Given the description of an element on the screen output the (x, y) to click on. 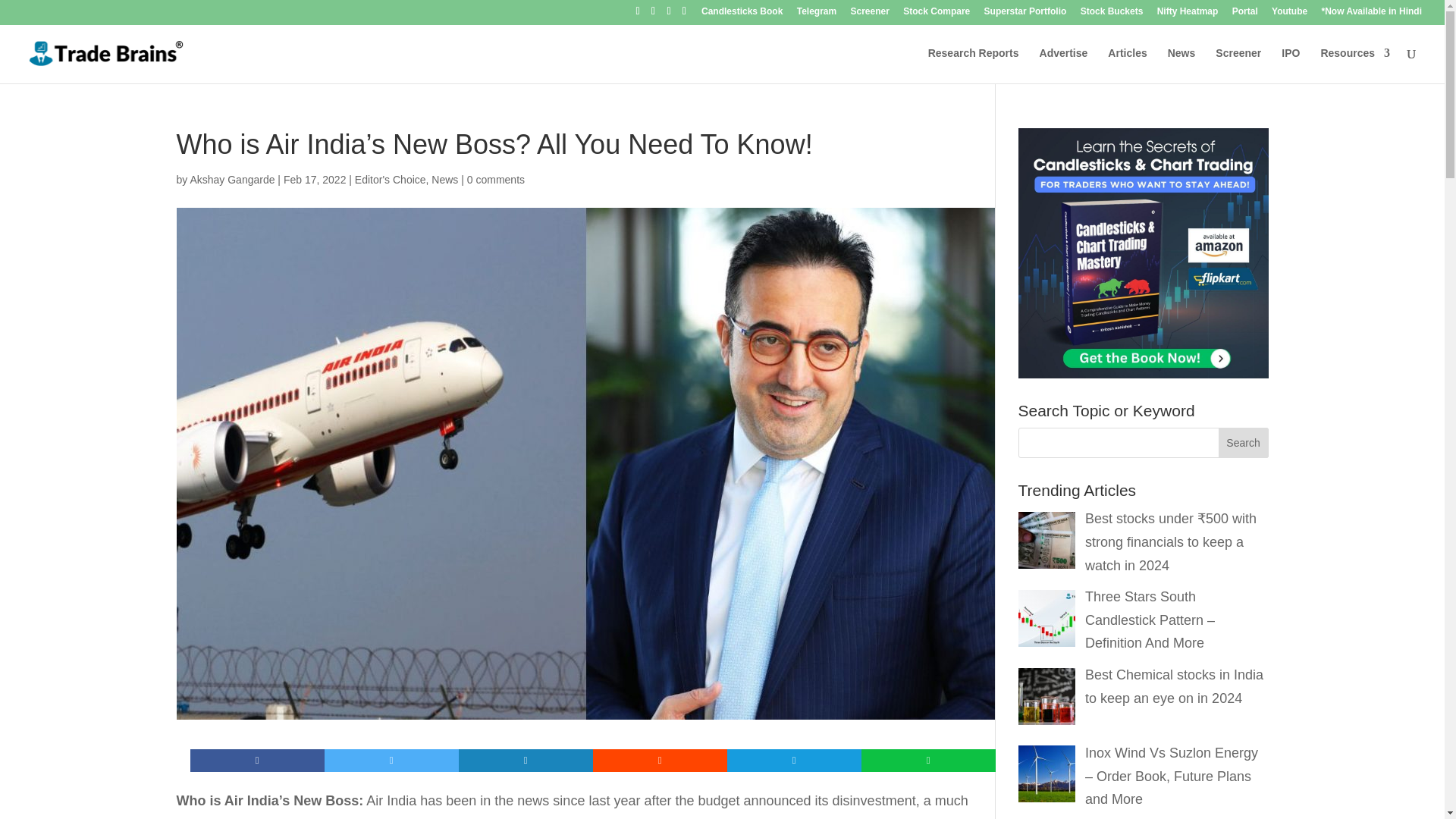
Screener (1237, 65)
Telegram (815, 14)
Advertise (1063, 65)
Research Reports (973, 65)
Youtube (1289, 14)
Stock Compare (935, 14)
Posts by Akshay Gangarde (232, 179)
Stock Buckets (1111, 14)
News (444, 179)
Portal (1244, 14)
